Given the description of an element on the screen output the (x, y) to click on. 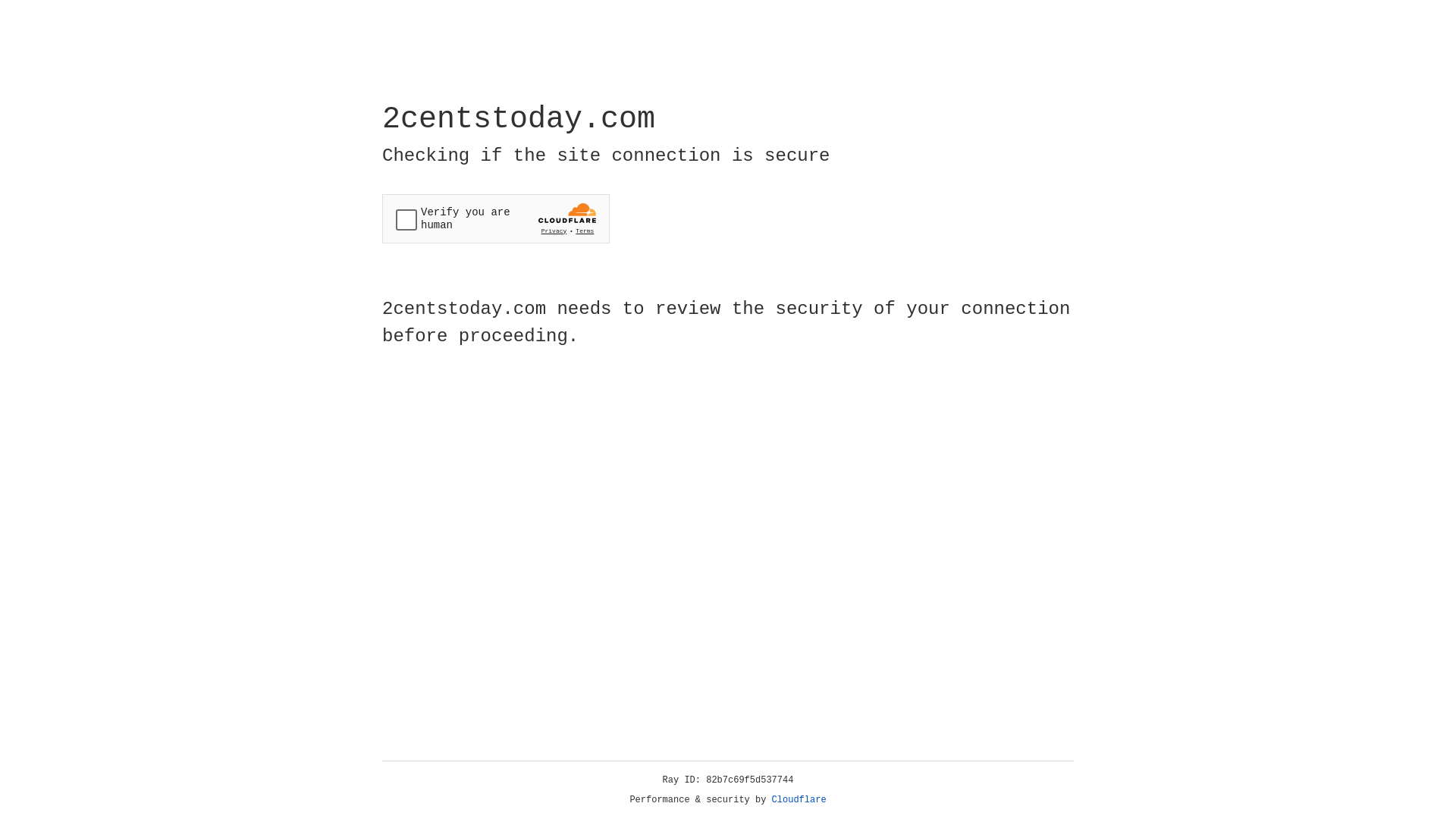
Cloudflare Element type: text (798, 799)
Widget containing a Cloudflare security challenge Element type: hover (495, 218)
